Given the description of an element on the screen output the (x, y) to click on. 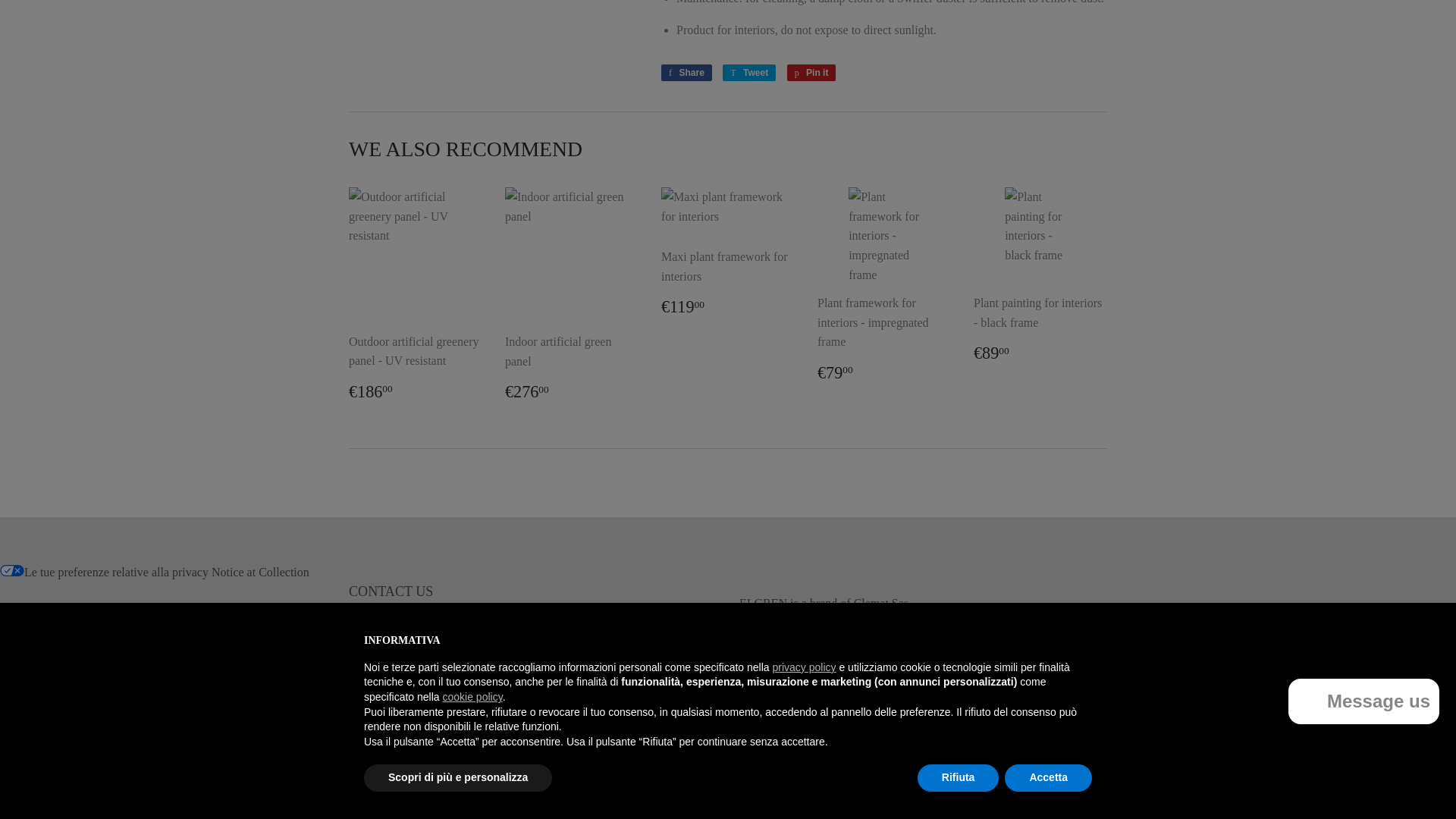
Google Pay (851, 792)
Union Pay (1052, 792)
Shop Pay (1011, 792)
Mastercard (931, 792)
Maestro (891, 792)
Apple Pay (810, 792)
American Express (771, 792)
Visa (1092, 792)
PayPal (972, 792)
